Given the description of an element on the screen output the (x, y) to click on. 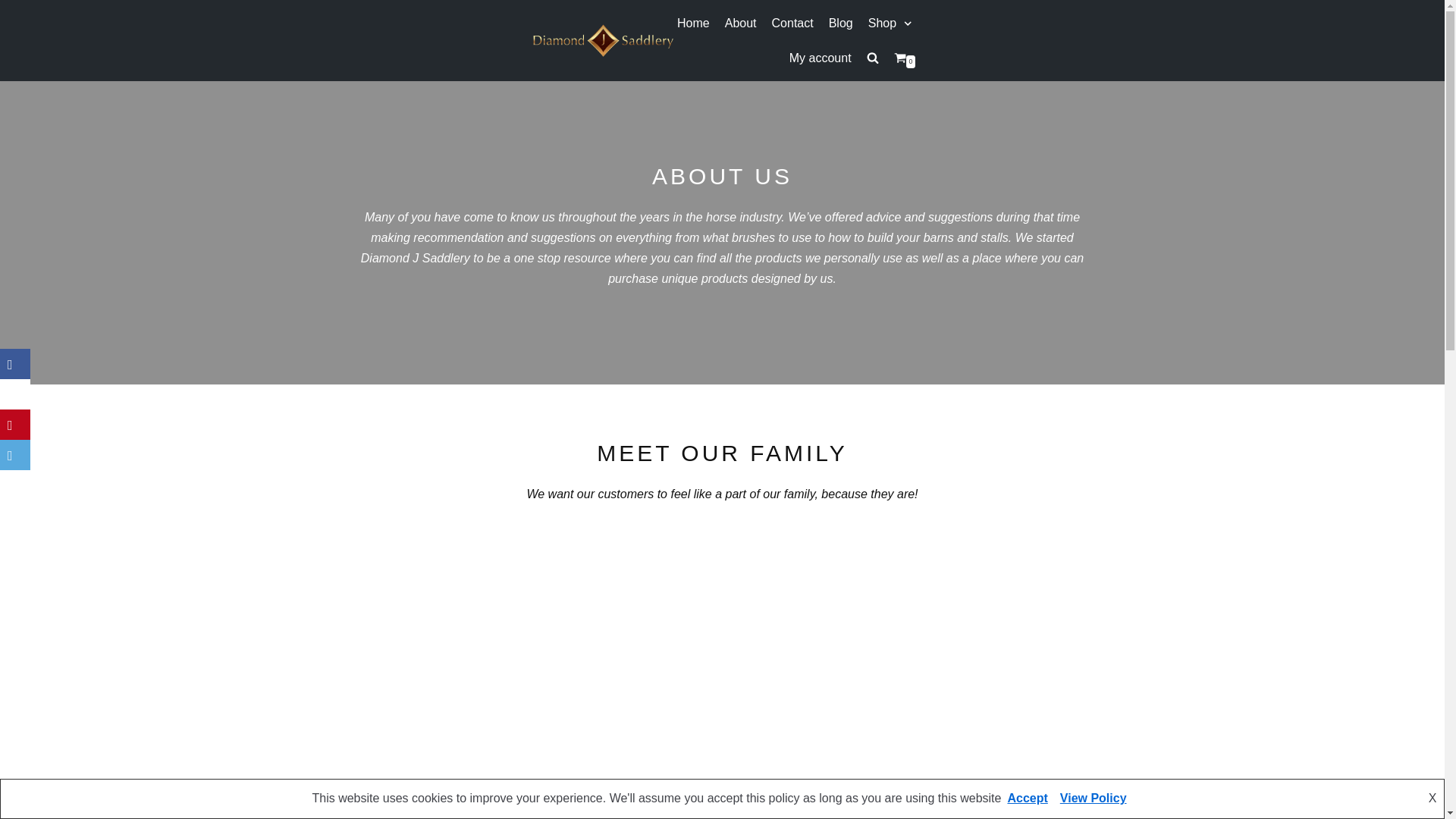
Contact (792, 23)
DIAMOND J SADDLERY (603, 40)
Skip to content (15, 7)
Search (846, 95)
0 (904, 57)
About (741, 23)
Shop (891, 23)
Blog (840, 23)
My account (820, 57)
Home (693, 23)
